Given the description of an element on the screen output the (x, y) to click on. 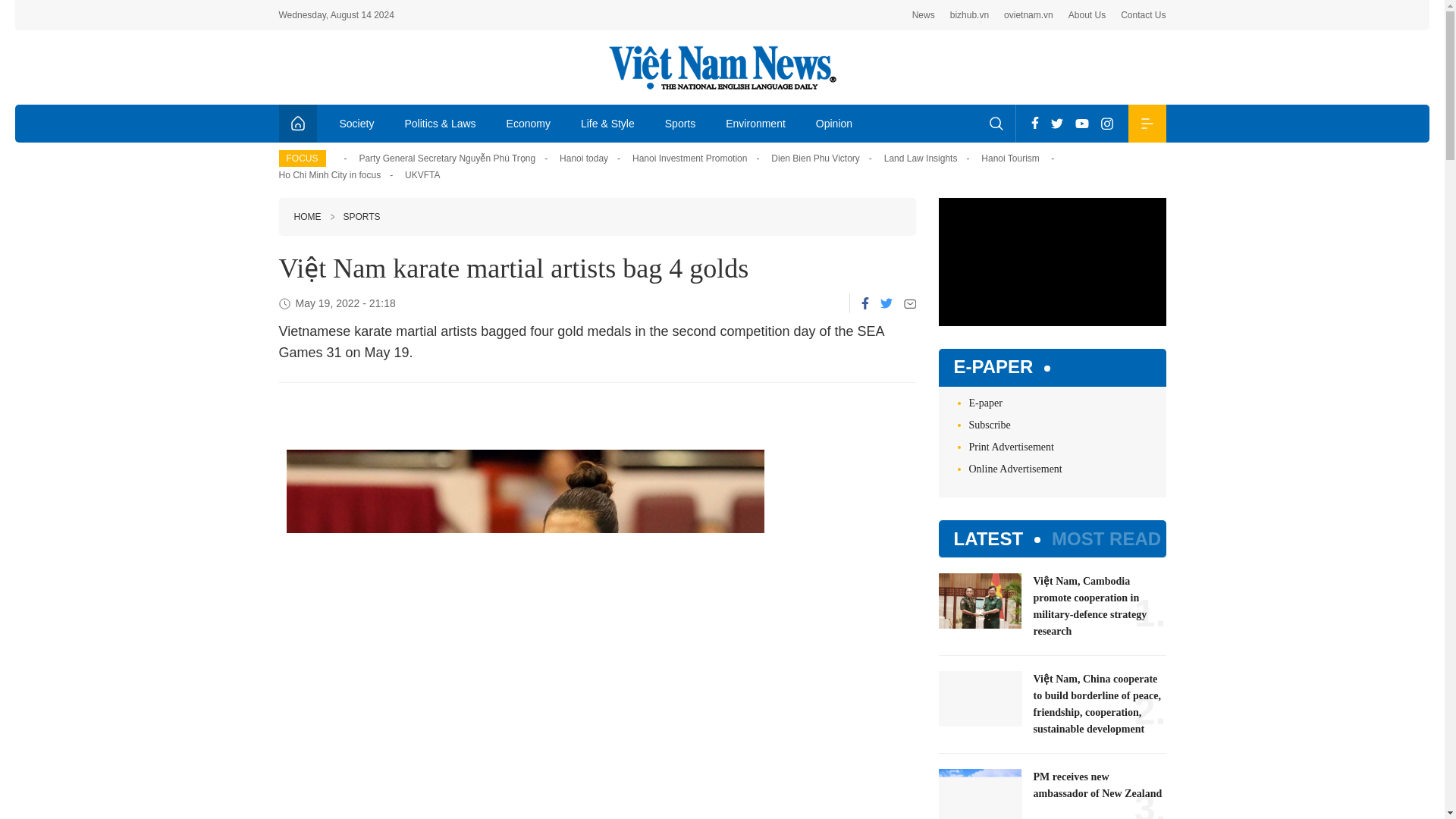
Sports (679, 123)
Contact Us (1143, 15)
News (923, 15)
bizhub.vn (969, 15)
Youtube (1081, 122)
Email (909, 303)
Instagram (1106, 123)
Environment (755, 123)
Society (357, 123)
Opinion (833, 123)
